Given the description of an element on the screen output the (x, y) to click on. 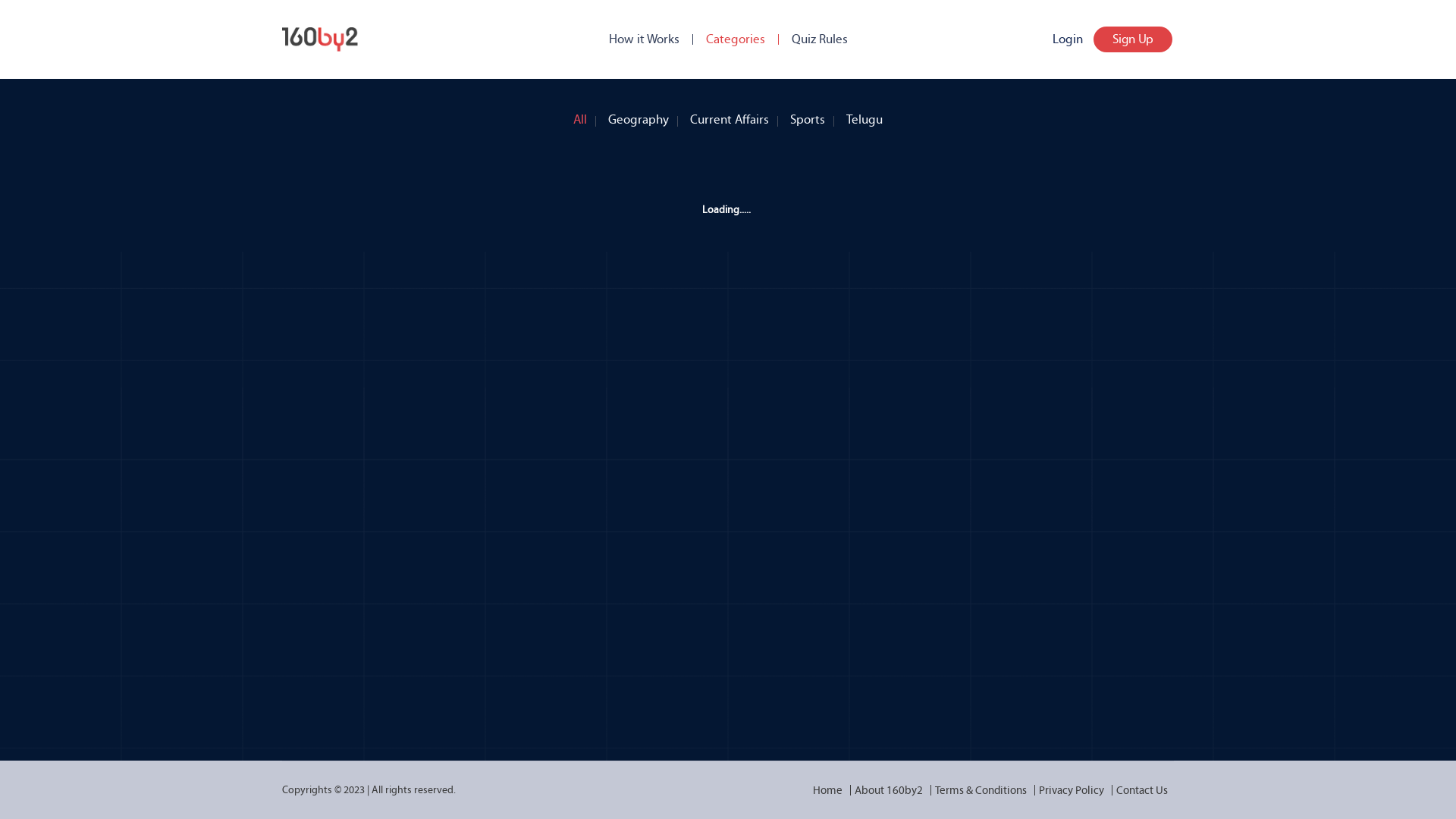
Quiz Rules Element type: text (819, 39)
Geography Element type: text (638, 115)
Contact Us Element type: text (1141, 789)
All Element type: text (579, 115)
Privacy Policy Element type: text (1071, 789)
Sign Up Element type: text (1132, 39)
Home Element type: text (827, 789)
Current Affairs Element type: text (729, 115)
Login Element type: text (1067, 39)
Telugu Element type: text (864, 115)
Terms & Conditions Element type: text (980, 789)
Categories Element type: text (734, 39)
Sports Element type: text (807, 115)
How it Works Element type: text (643, 39)
About 160by2 Element type: text (888, 789)
